Given the description of an element on the screen output the (x, y) to click on. 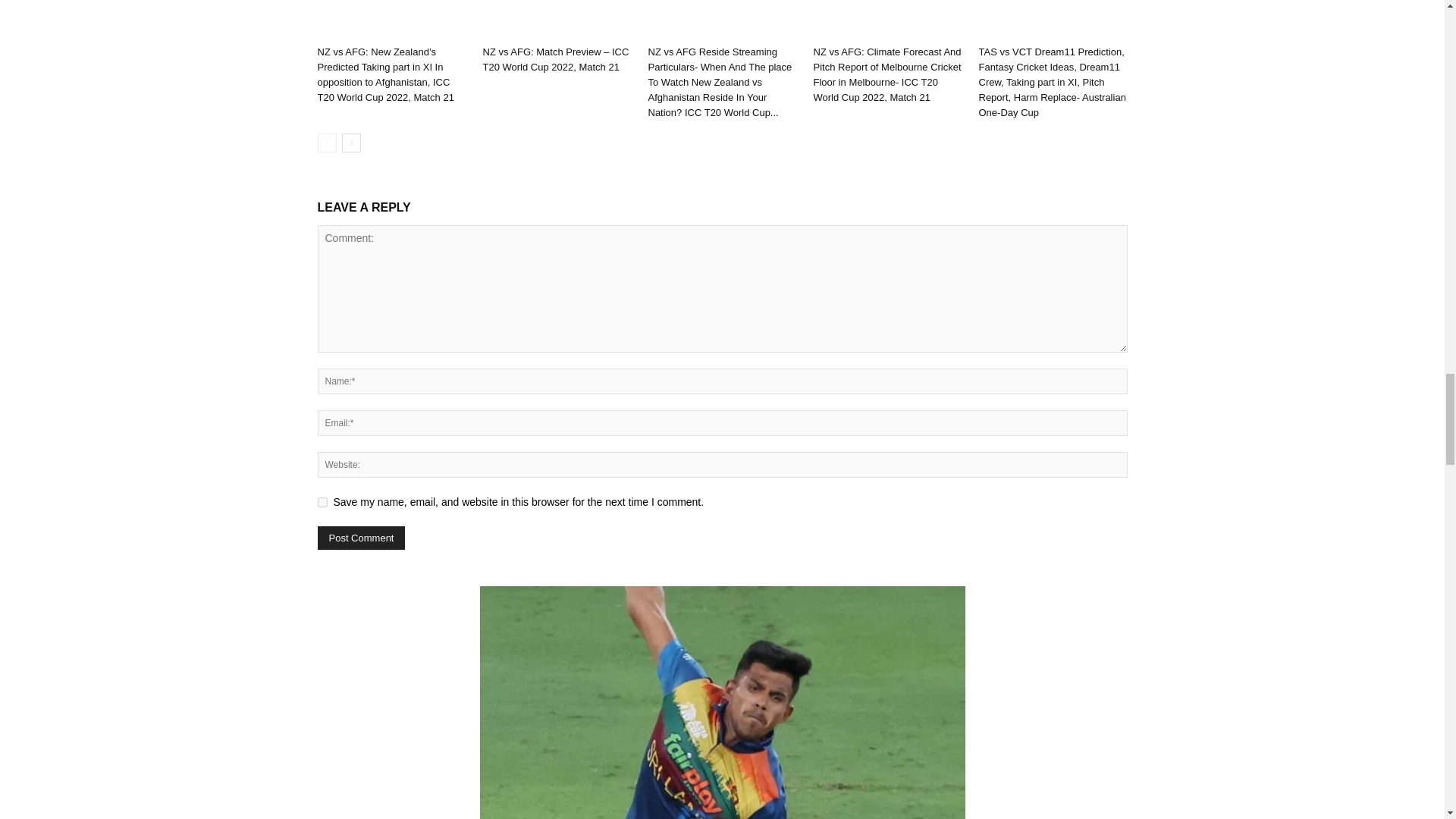
yes (321, 501)
Post Comment (360, 537)
